Given the description of an element on the screen output the (x, y) to click on. 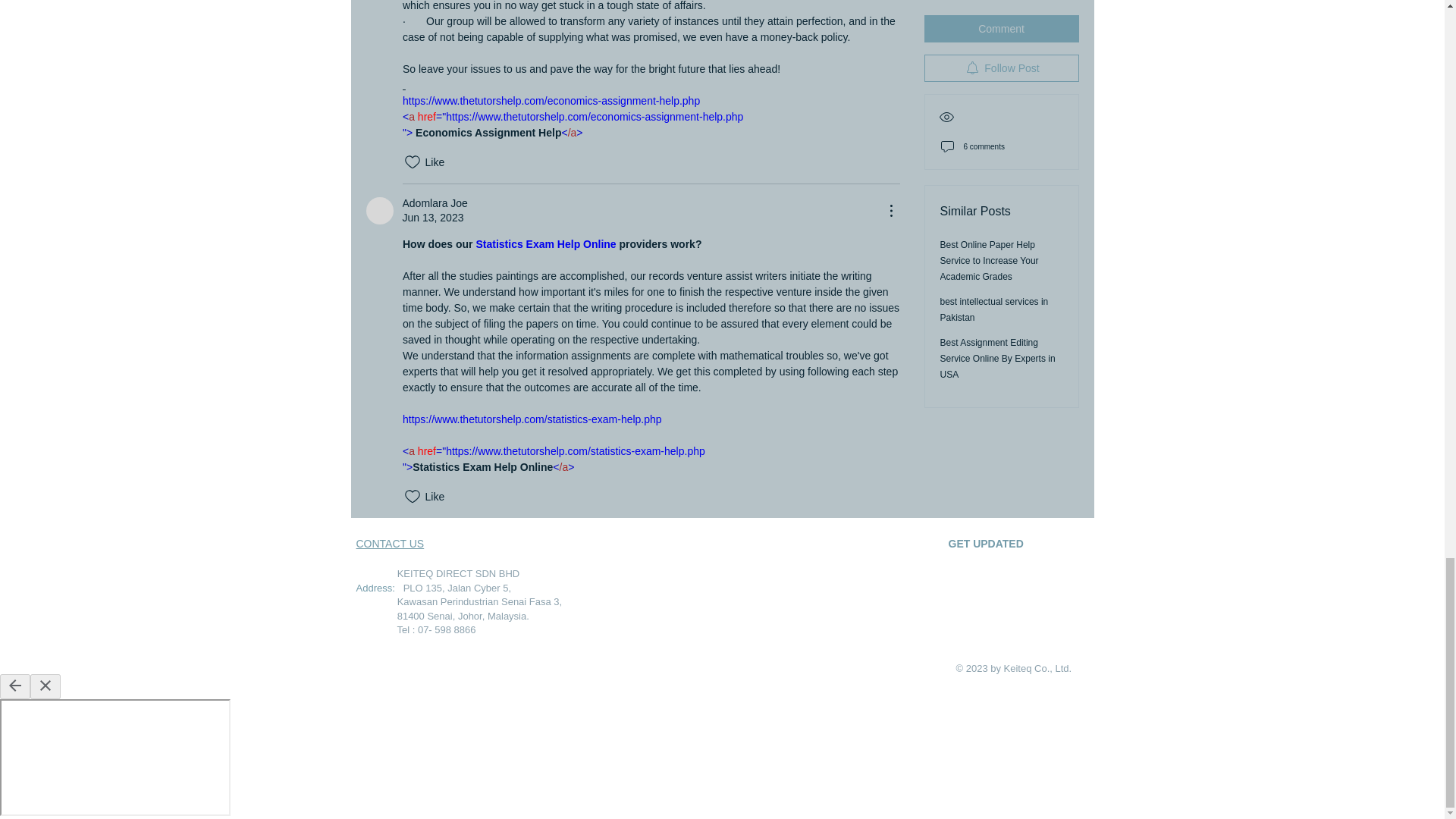
Adomlara Joe (379, 210)
